Given the description of an element on the screen output the (x, y) to click on. 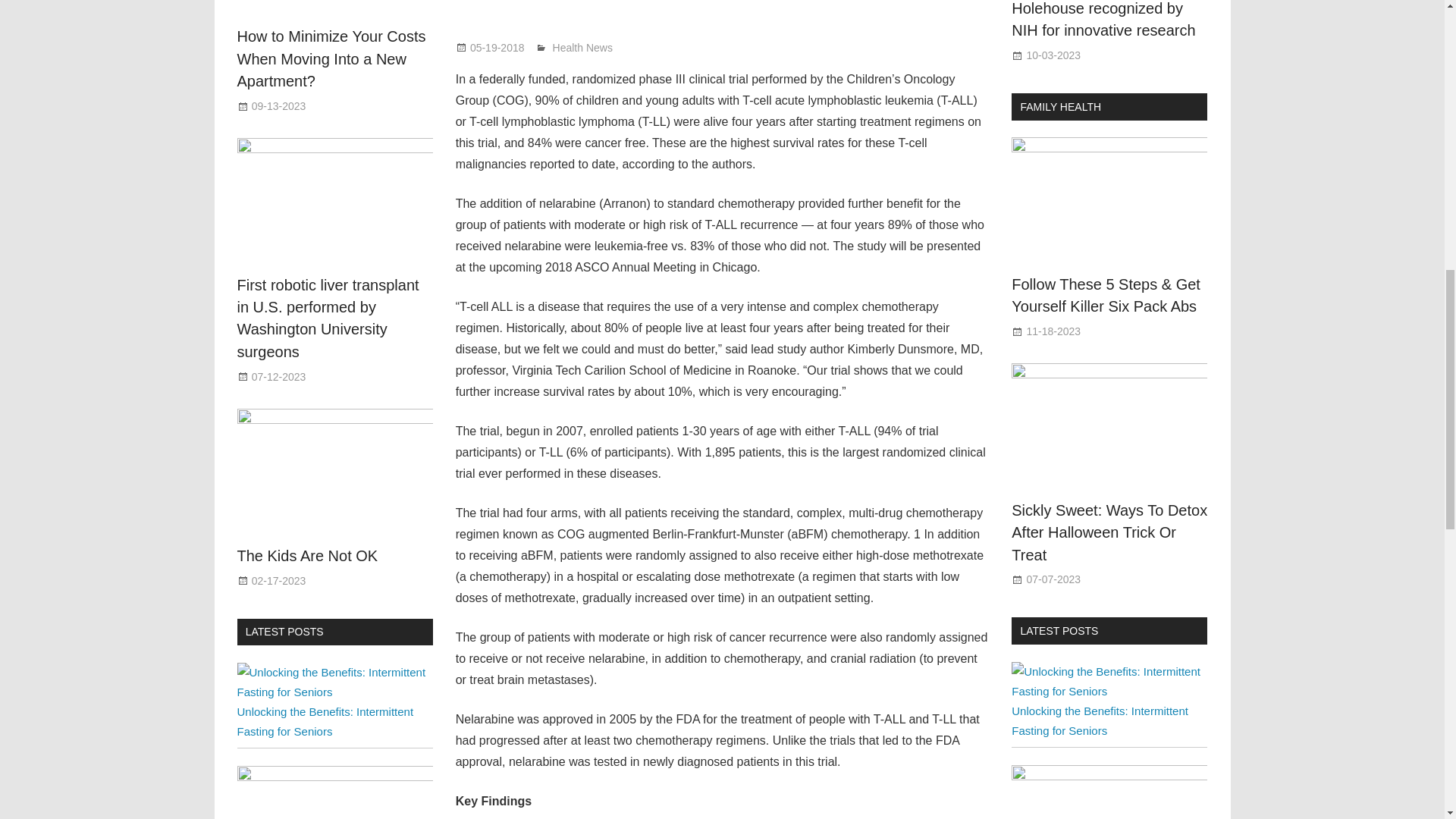
Unlocking the Benefits: Intermittent Fasting for Seniors (333, 691)
View all posts from category Family Health (1060, 106)
View all posts by James (568, 46)
02-17-2023 (278, 580)
07-12-2023 (278, 377)
James (568, 46)
Health News (582, 46)
Unlocking the Benefits: Intermittent Fasting for Seniors (324, 721)
